Given the description of an element on the screen output the (x, y) to click on. 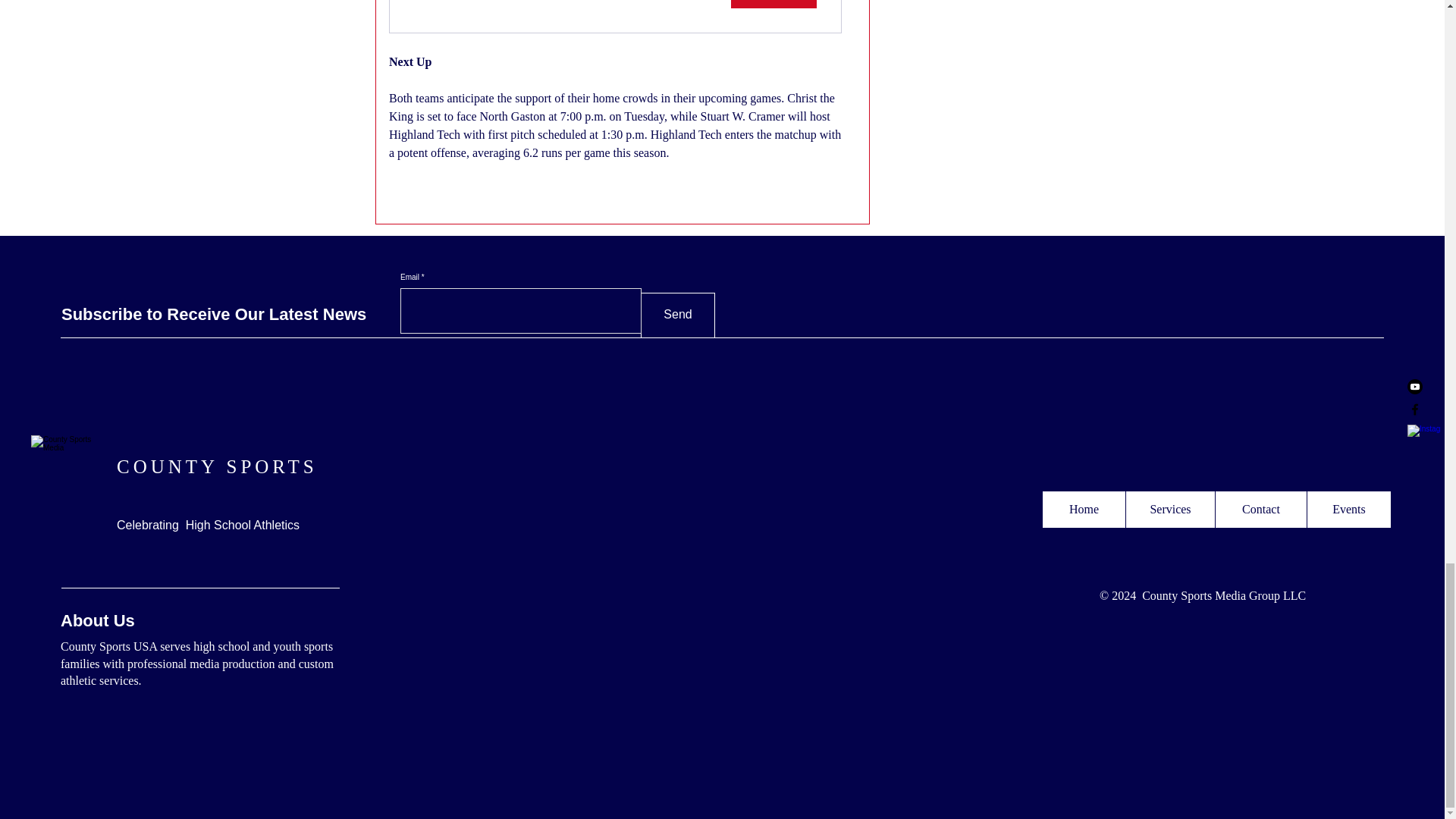
County Favicon.png (65, 469)
Events (614, 16)
Celebrating  High School Athletics (1348, 509)
Send (207, 524)
Home (677, 315)
COUNTY SPORTS (1083, 509)
Services (216, 466)
Contact (1169, 509)
